Given the description of an element on the screen output the (x, y) to click on. 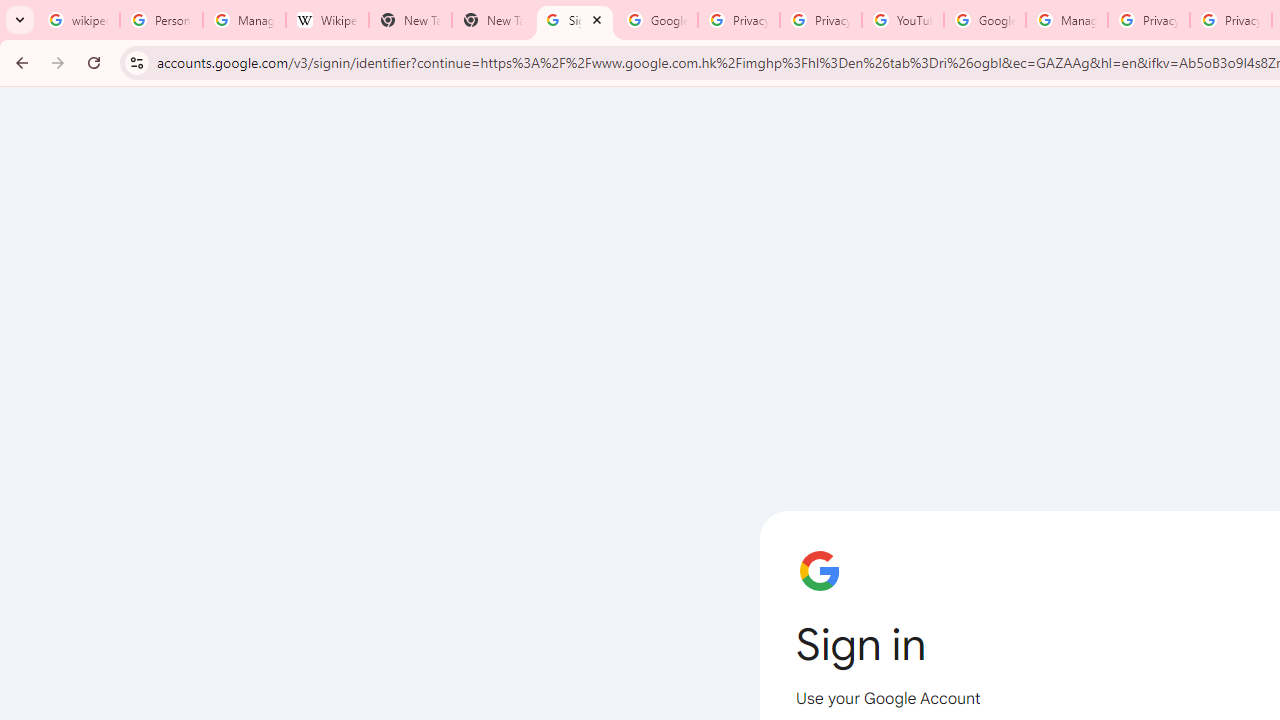
New Tab (409, 20)
Sign in - Google Accounts (574, 20)
Personalization & Google Search results - Google Search Help (161, 20)
